Given the description of an element on the screen output the (x, y) to click on. 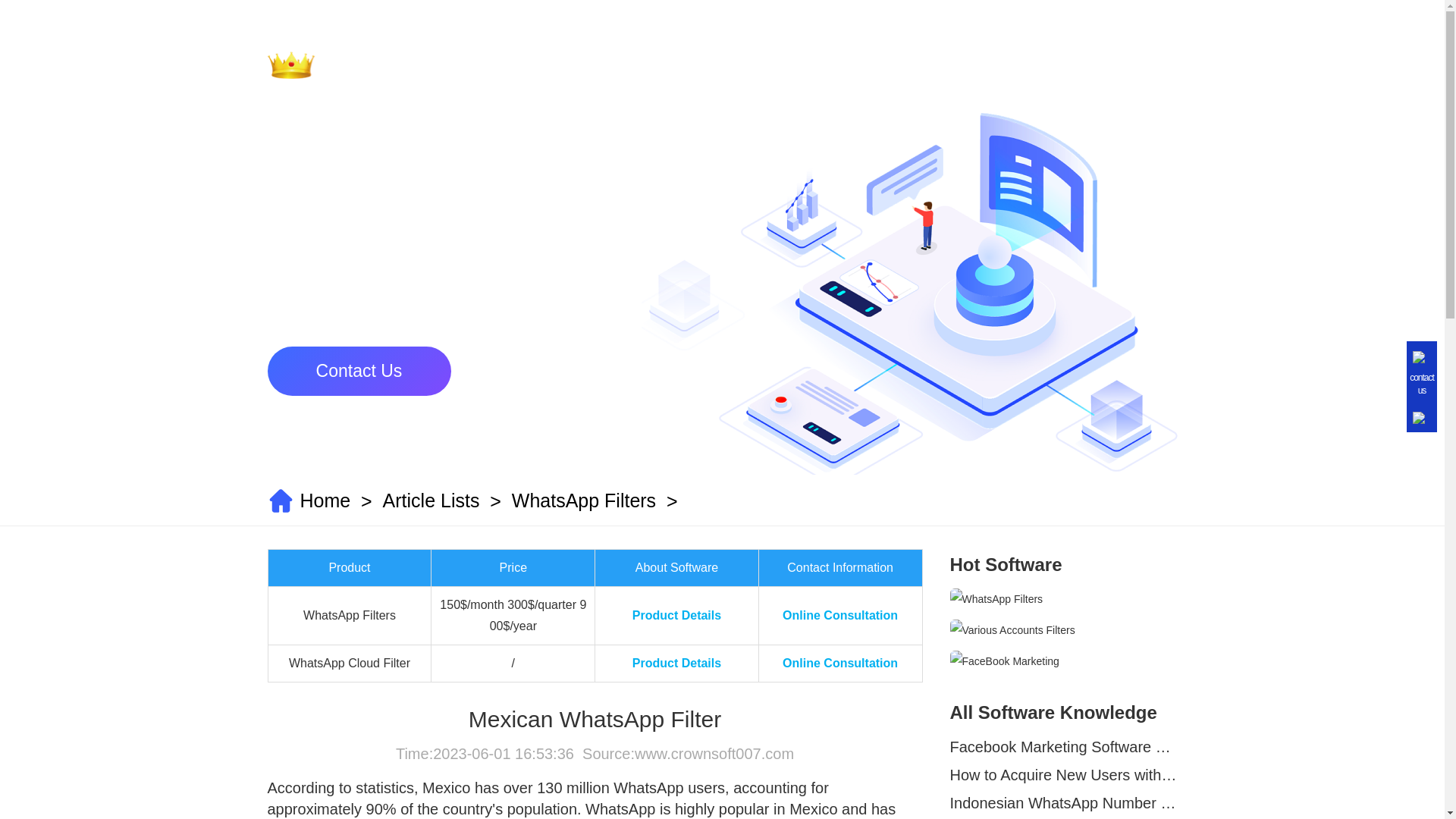
Home Page (778, 67)
Software List (892, 67)
Contact Us (1120, 67)
Online Consultation (840, 615)
Contact Us (1120, 67)
WhatsApp Filters (584, 500)
Software List (892, 67)
Product Details (675, 662)
www.crownsoft007.com (713, 753)
Online Consultation (840, 662)
